Given the description of an element on the screen output the (x, y) to click on. 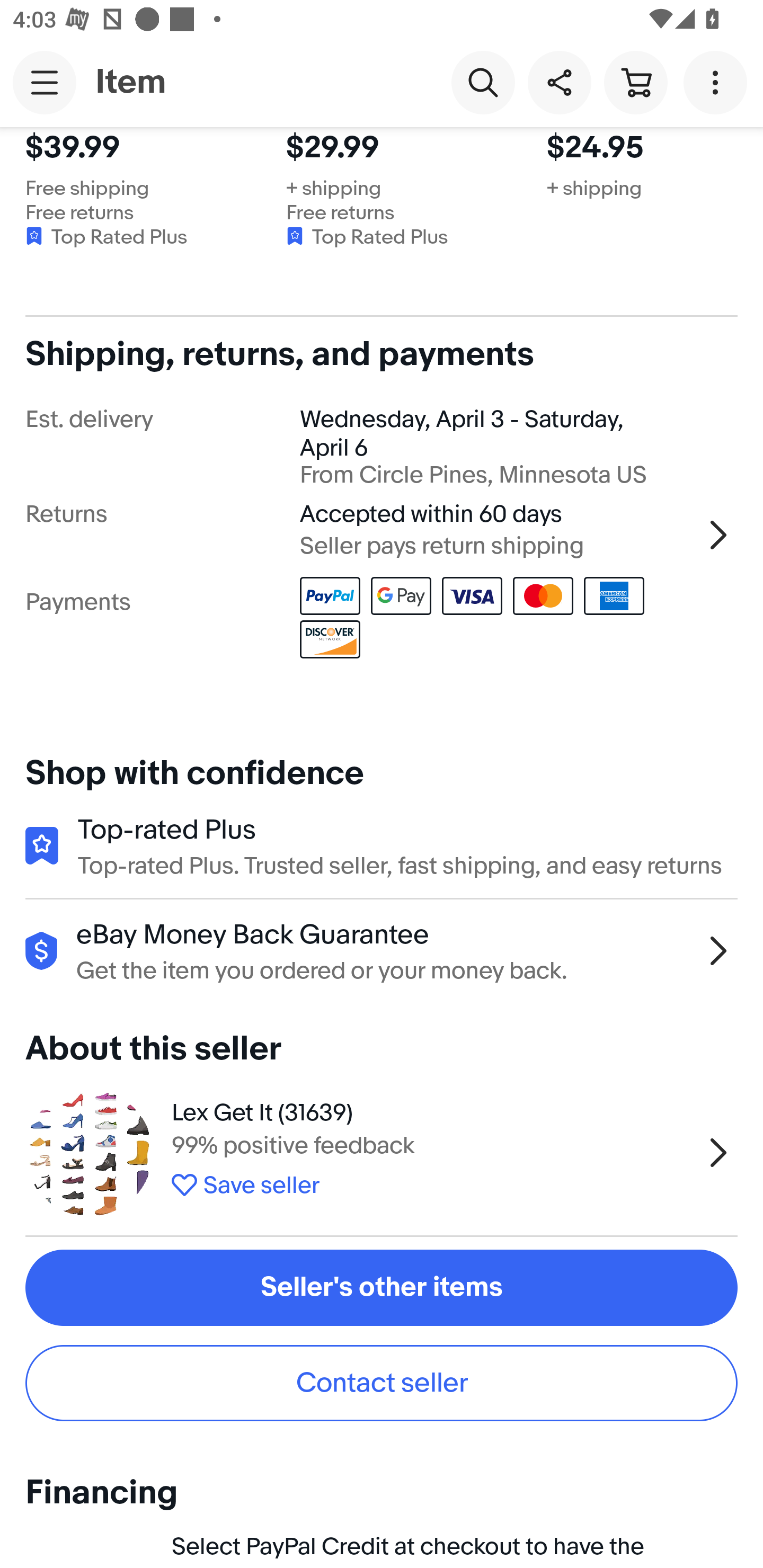
Main navigation, open (44, 82)
Search (482, 81)
Share this item (559, 81)
Cart button shopping cart (635, 81)
More options (718, 81)
$24.95 + shipping + shipping (655, 208)
Save seller (431, 1181)
Seller's other items (381, 1287)
Contact seller (381, 1382)
